Given the description of an element on the screen output the (x, y) to click on. 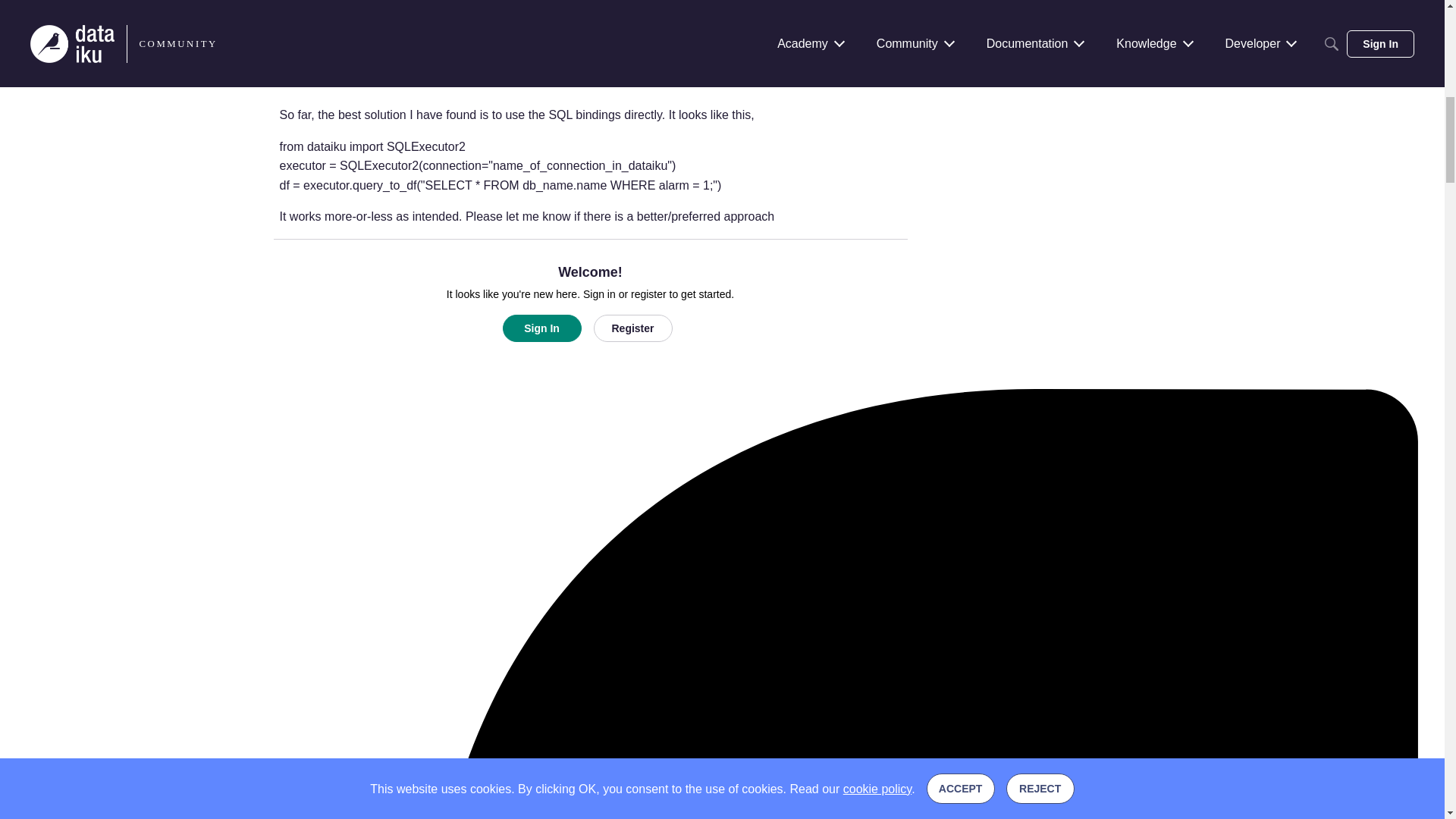
Search the Community (722, 76)
Community FAQs (722, 94)
Ask a question (722, 53)
emher (301, 70)
Level 5 (447, 63)
February 18, 2021 9:21AM (856, 62)
Sign In (541, 328)
Register (631, 328)
